Given the description of an element on the screen output the (x, y) to click on. 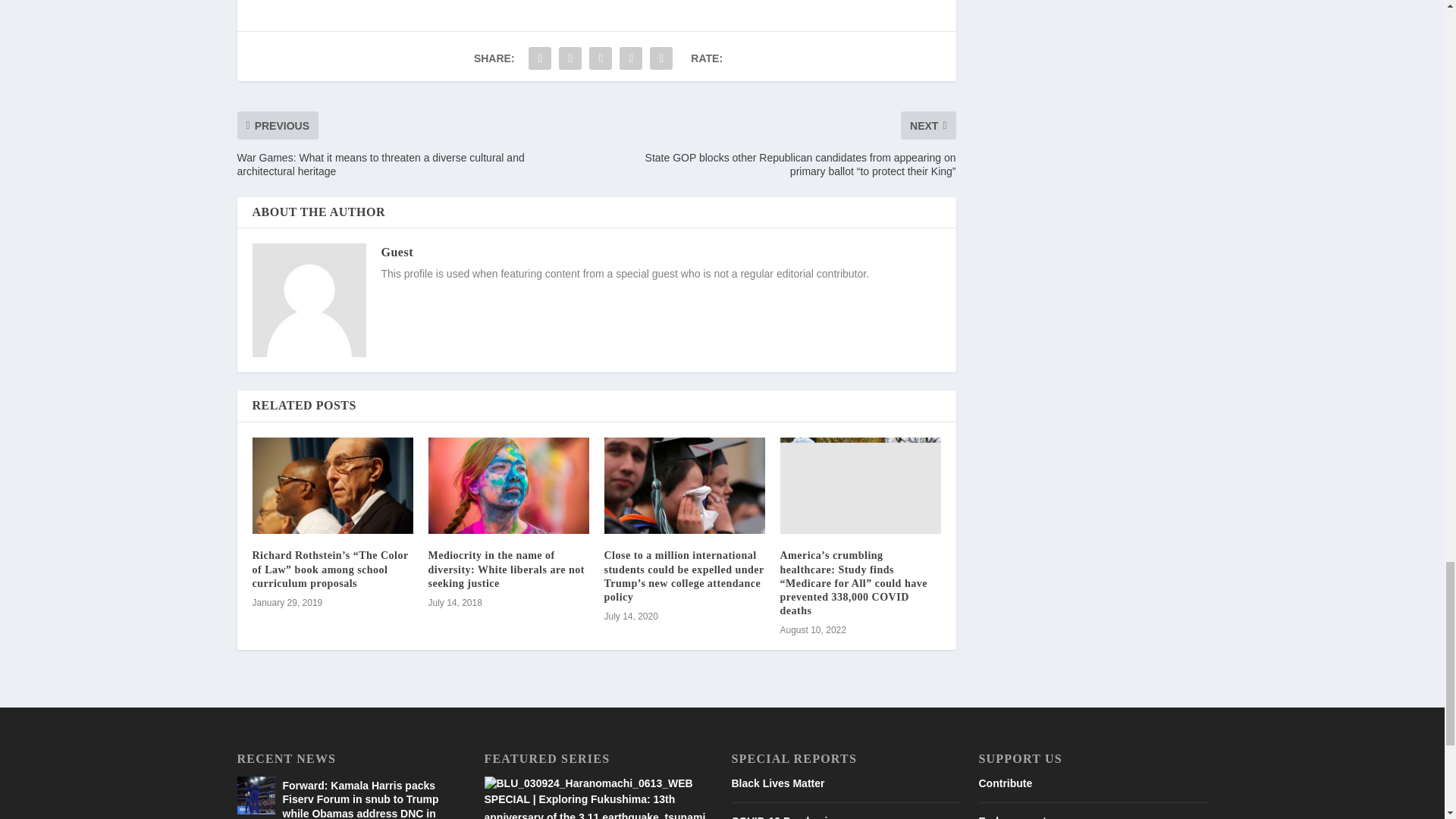
View all posts by Guest (396, 251)
